Given the description of an element on the screen output the (x, y) to click on. 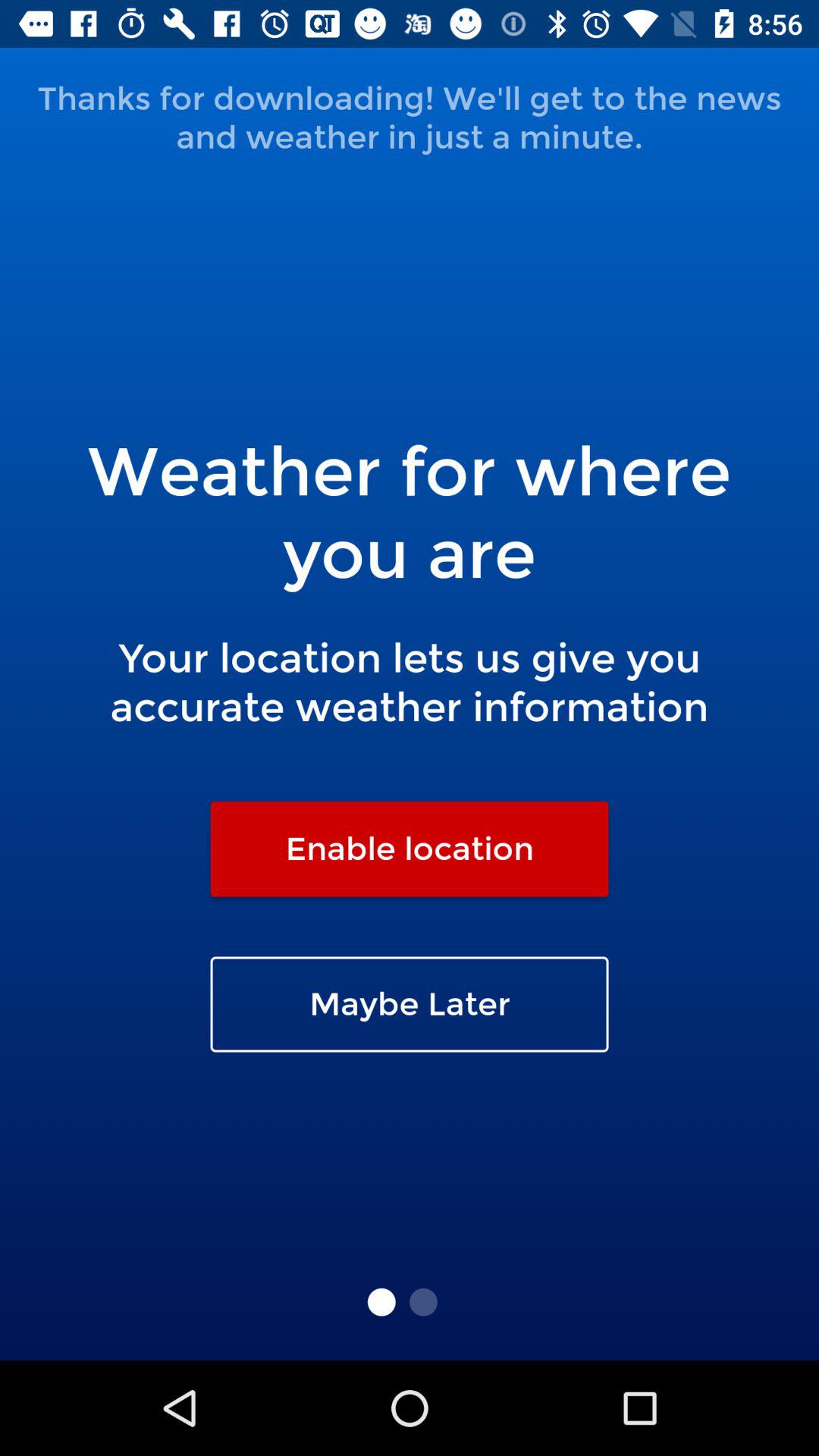
turn on item above the maybe later item (409, 848)
